Given the description of an element on the screen output the (x, y) to click on. 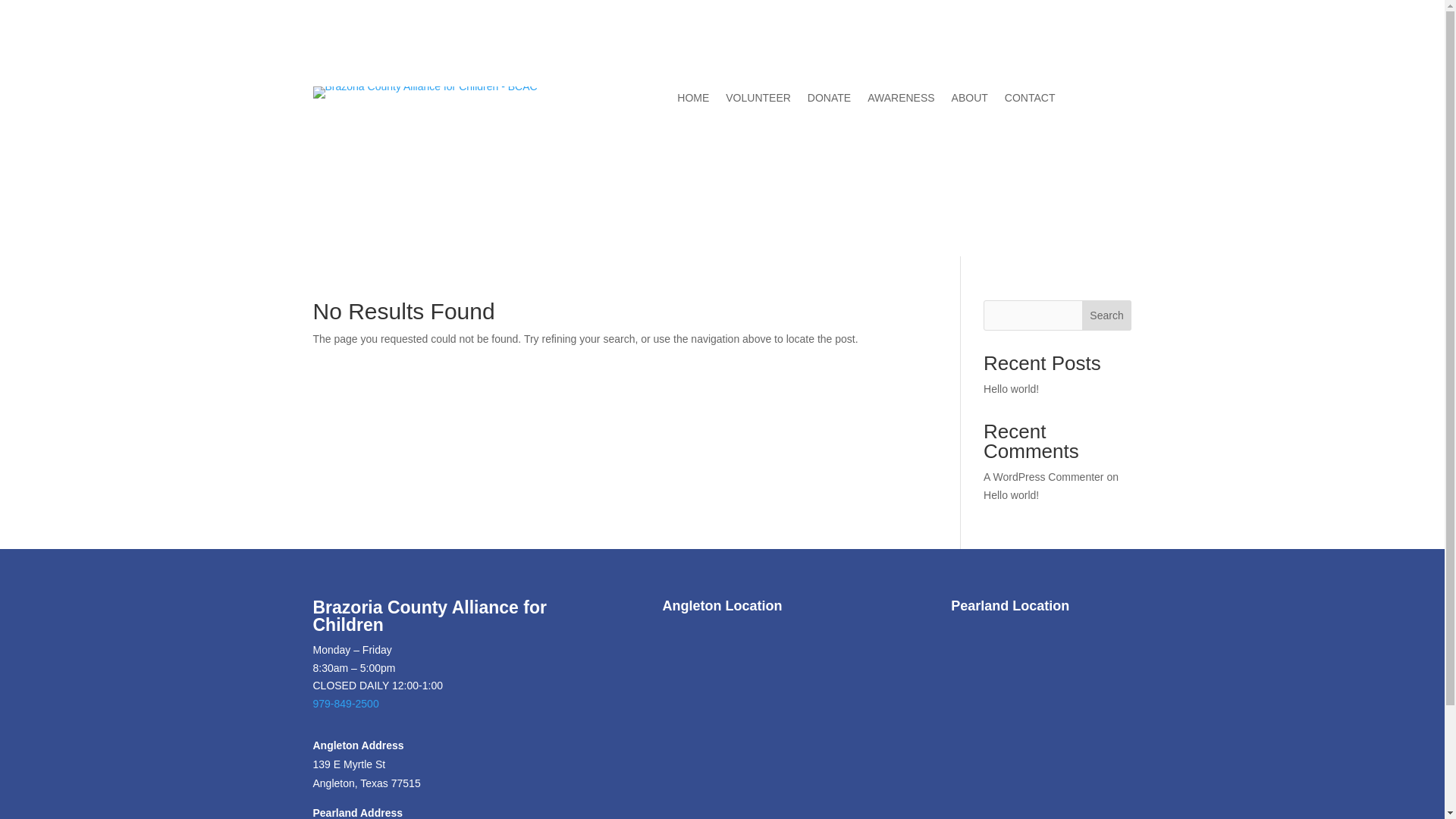
Call Now (865, 150)
HOME (693, 100)
CONTACT (1029, 100)
AWARENESS (900, 100)
DONATE (829, 100)
BCAC Logo (425, 92)
979-849-2500 (345, 703)
Hello world! (1011, 388)
A WordPress Commenter (1043, 476)
Search (1106, 315)
ABOUT (970, 100)
VOLUNTEER (757, 100)
Hello world! (1011, 494)
